Given the description of an element on the screen output the (x, y) to click on. 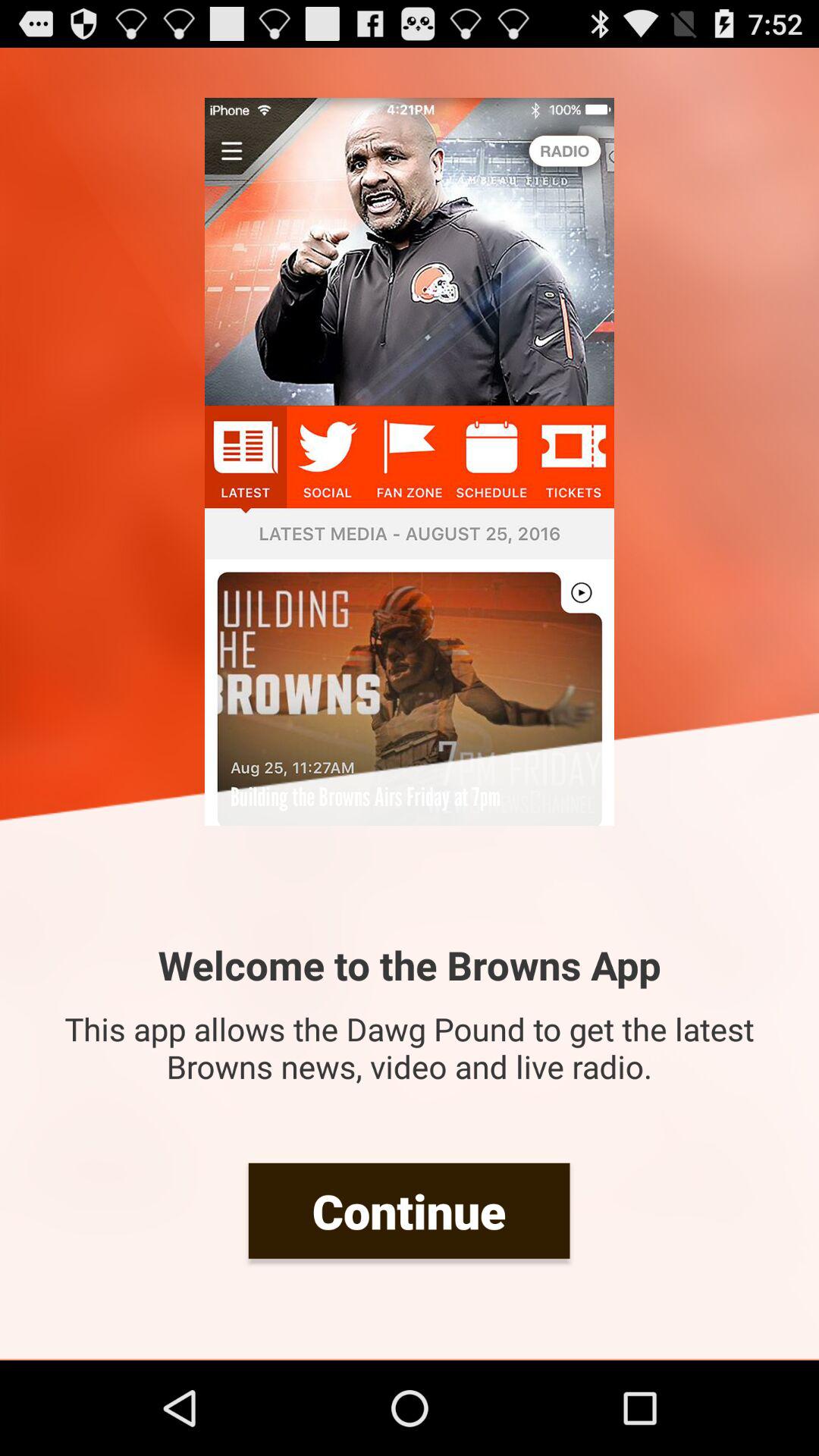
open continue item (408, 1210)
